Given the description of an element on the screen output the (x, y) to click on. 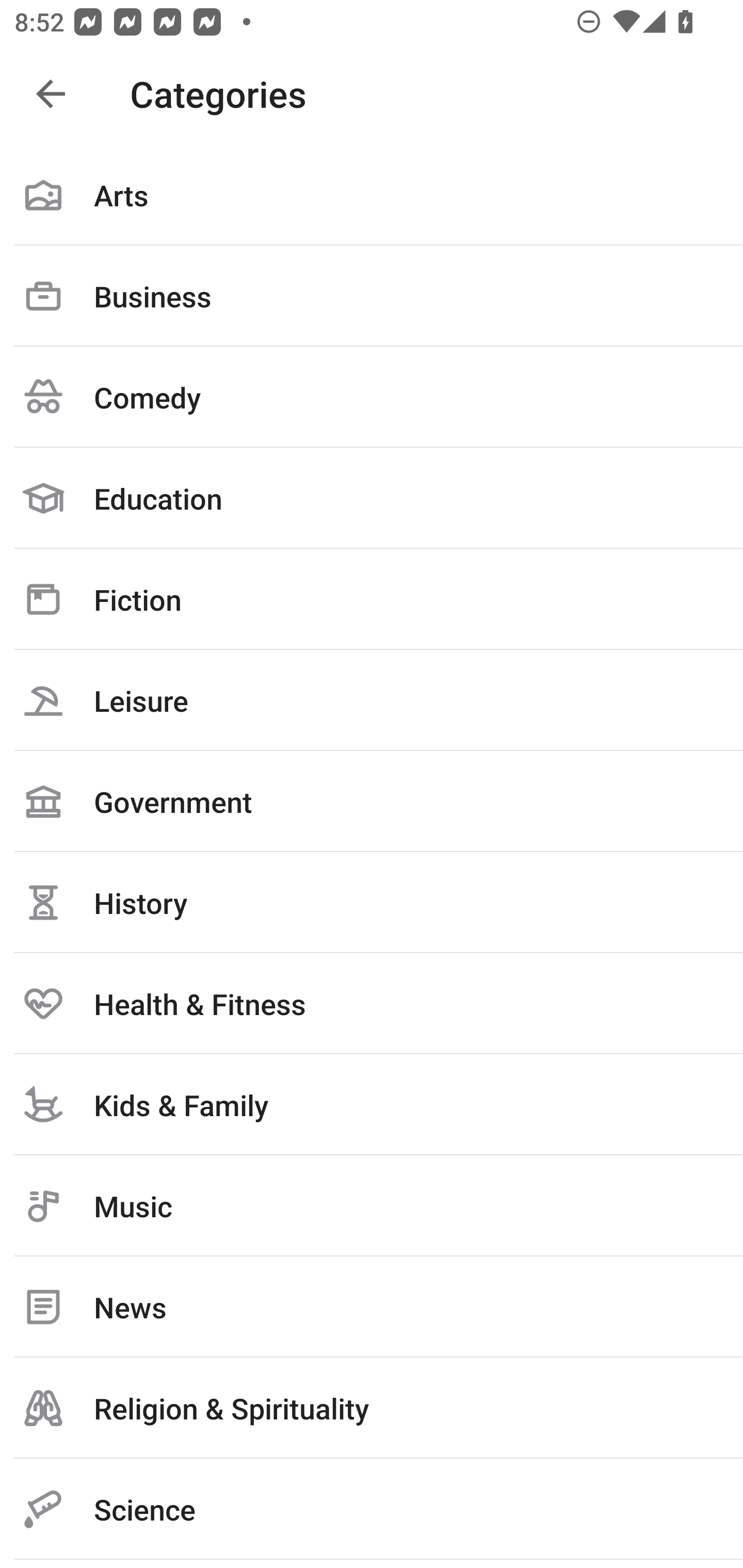
Navigate up (50, 93)
Arts (371, 195)
Business (371, 296)
Comedy (371, 397)
Education (371, 498)
Fiction (371, 598)
Leisure (371, 700)
Government (371, 801)
History (371, 902)
Health & Fitness (371, 1003)
Kids & Family (371, 1104)
Music (371, 1205)
News (371, 1306)
Religion & Spirituality (371, 1407)
Science (371, 1509)
